Given the description of an element on the screen output the (x, y) to click on. 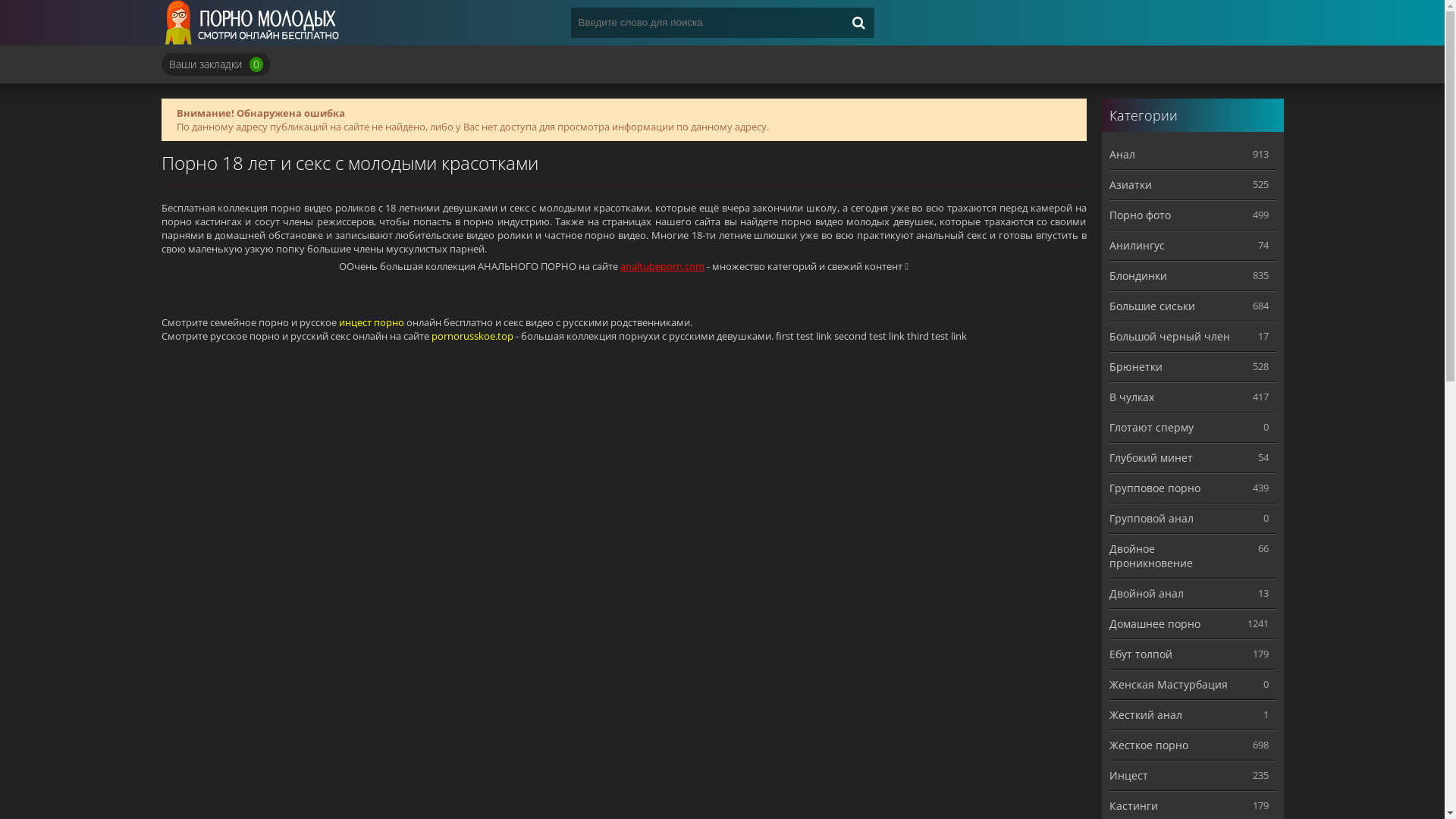
pornorusskoe.top Element type: text (471, 335)
test Element type: text (877, 335)
test Element type: text (939, 335)
analtubeporn.com Element type: text (662, 266)
test Element type: text (804, 335)
